Given the description of an element on the screen output the (x, y) to click on. 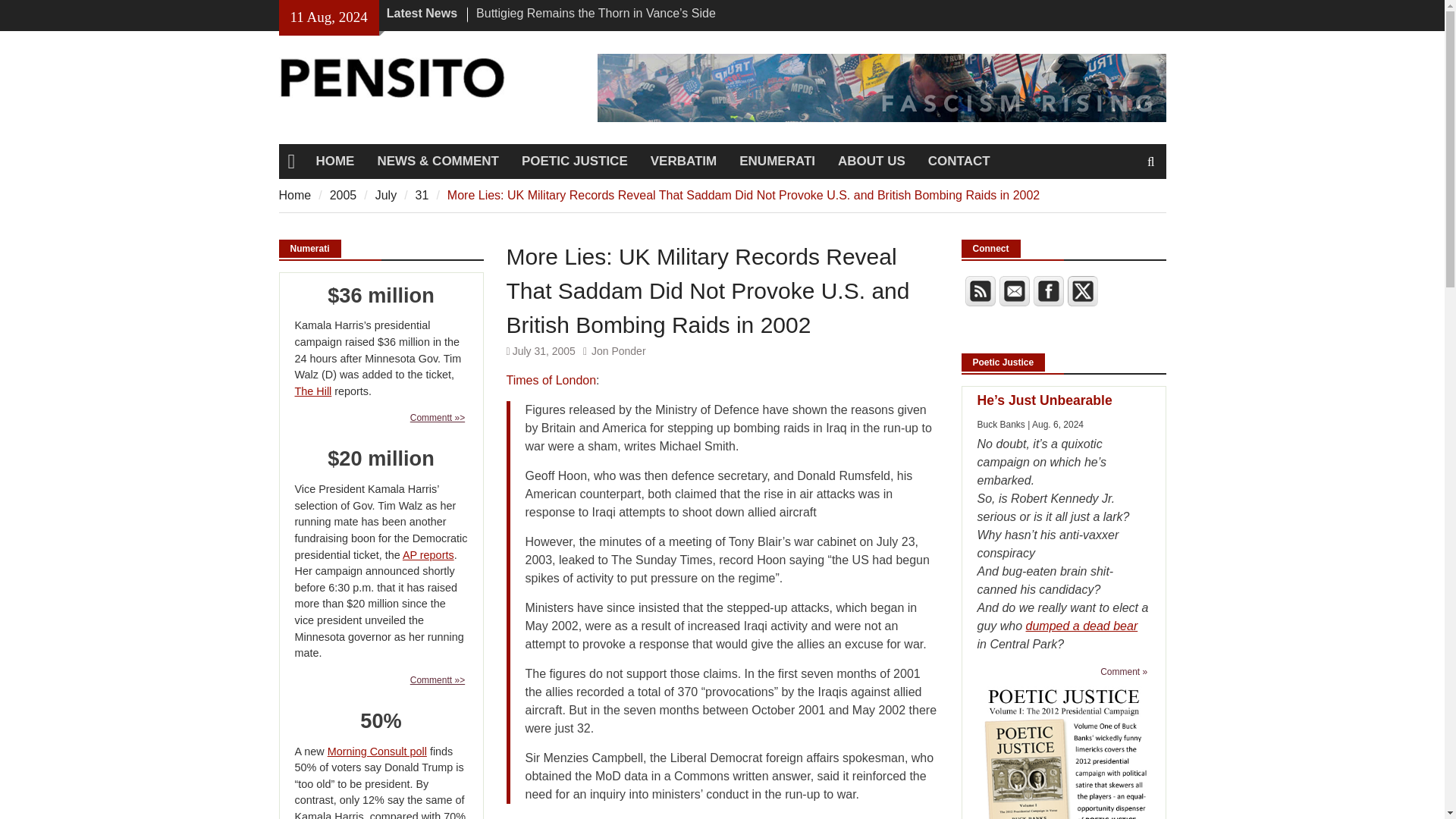
Jon Ponder (618, 349)
POETIC JUSTICE (575, 161)
Times of London (551, 379)
Facebook (1047, 291)
2005 (343, 194)
VERBATIM (684, 161)
RSS (978, 291)
CONTACT (959, 161)
July (385, 194)
July 31, 2005 (543, 349)
